Given the description of an element on the screen output the (x, y) to click on. 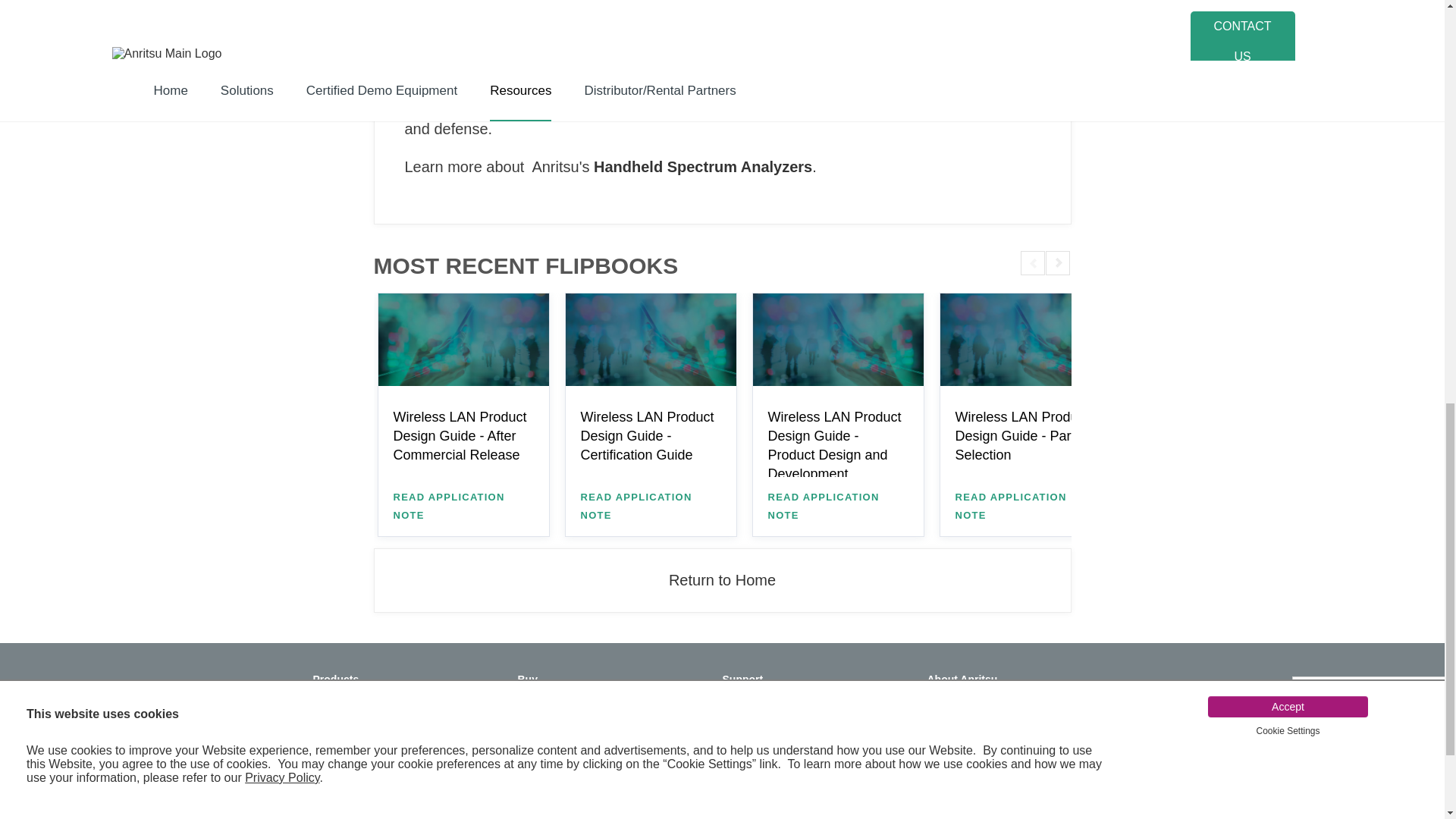
News (1009, 701)
Sustainability (1009, 767)
Employment (1009, 784)
Repair and Calibration (805, 701)
Submit Technical Question (805, 751)
Corporate Information (1009, 717)
Request a Quote (600, 701)
Employment (1009, 734)
Contact Sales (600, 788)
Investor Relations (1009, 751)
